Given the description of an element on the screen output the (x, y) to click on. 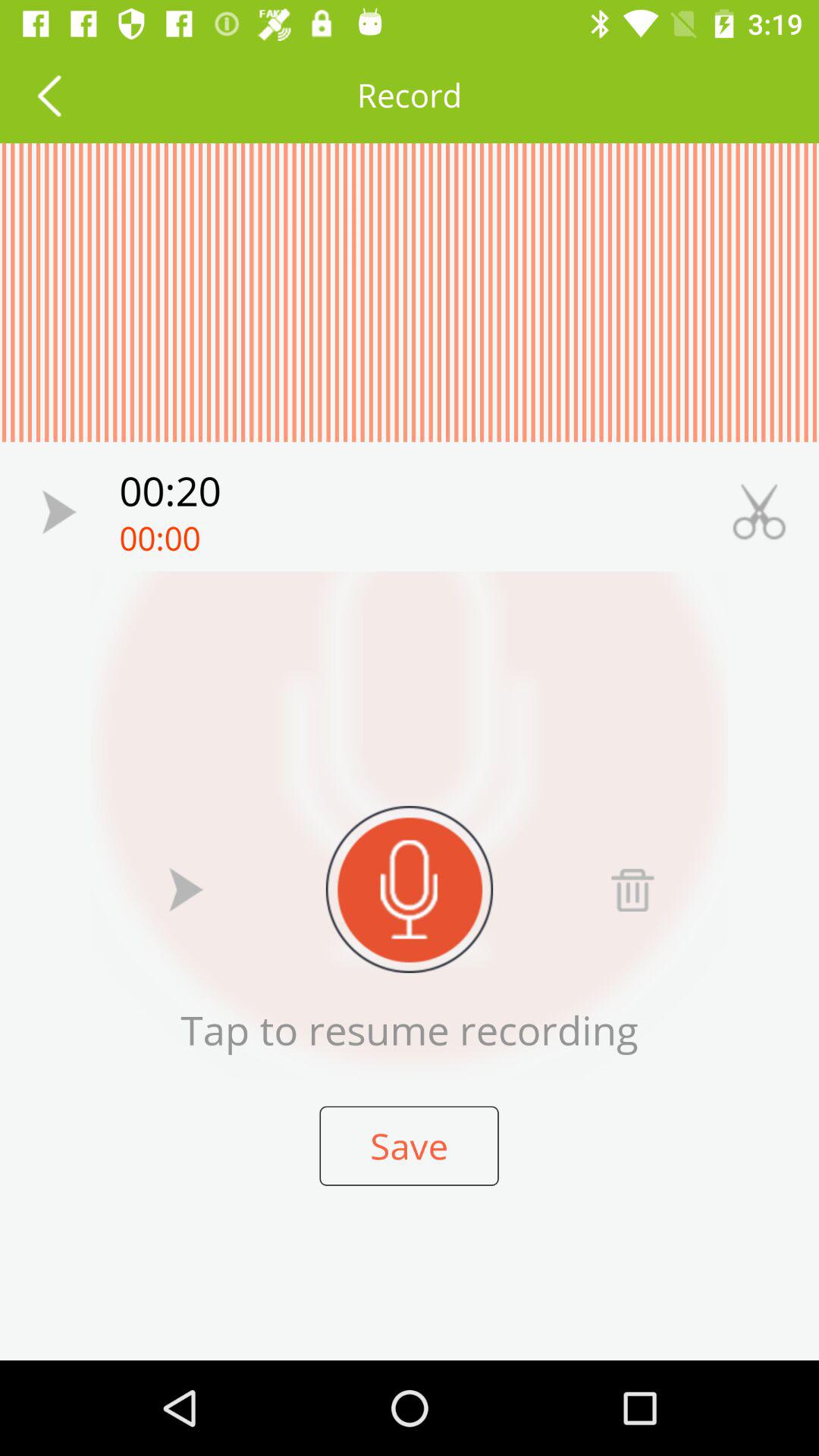
record sound (409, 889)
